Given the description of an element on the screen output the (x, y) to click on. 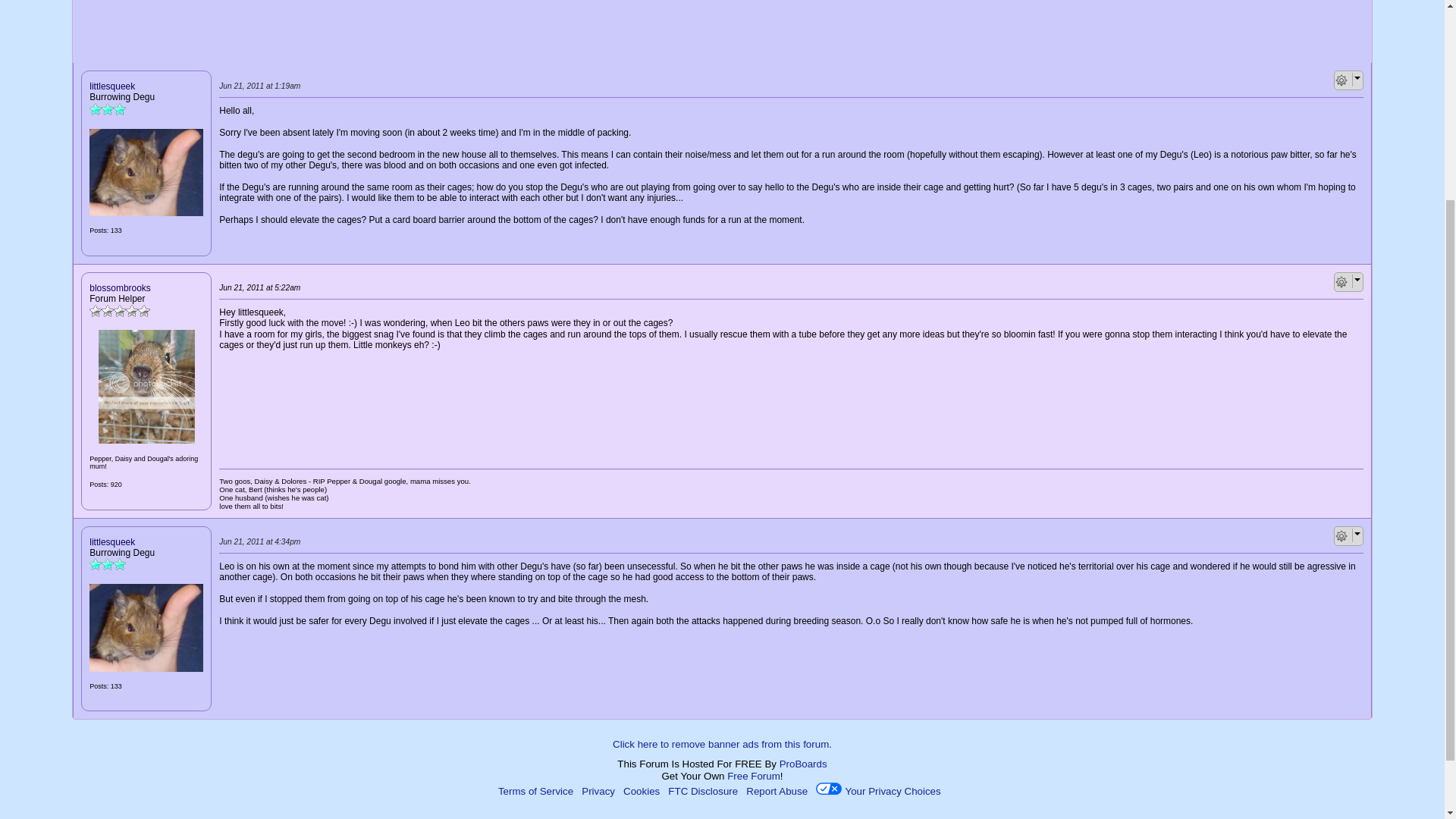
Post Options (1341, 282)
littlesqueek (145, 172)
Post Options (1341, 535)
Post Options (1341, 80)
littlesqueek (145, 627)
blossombrooks (145, 386)
